Given the description of an element on the screen output the (x, y) to click on. 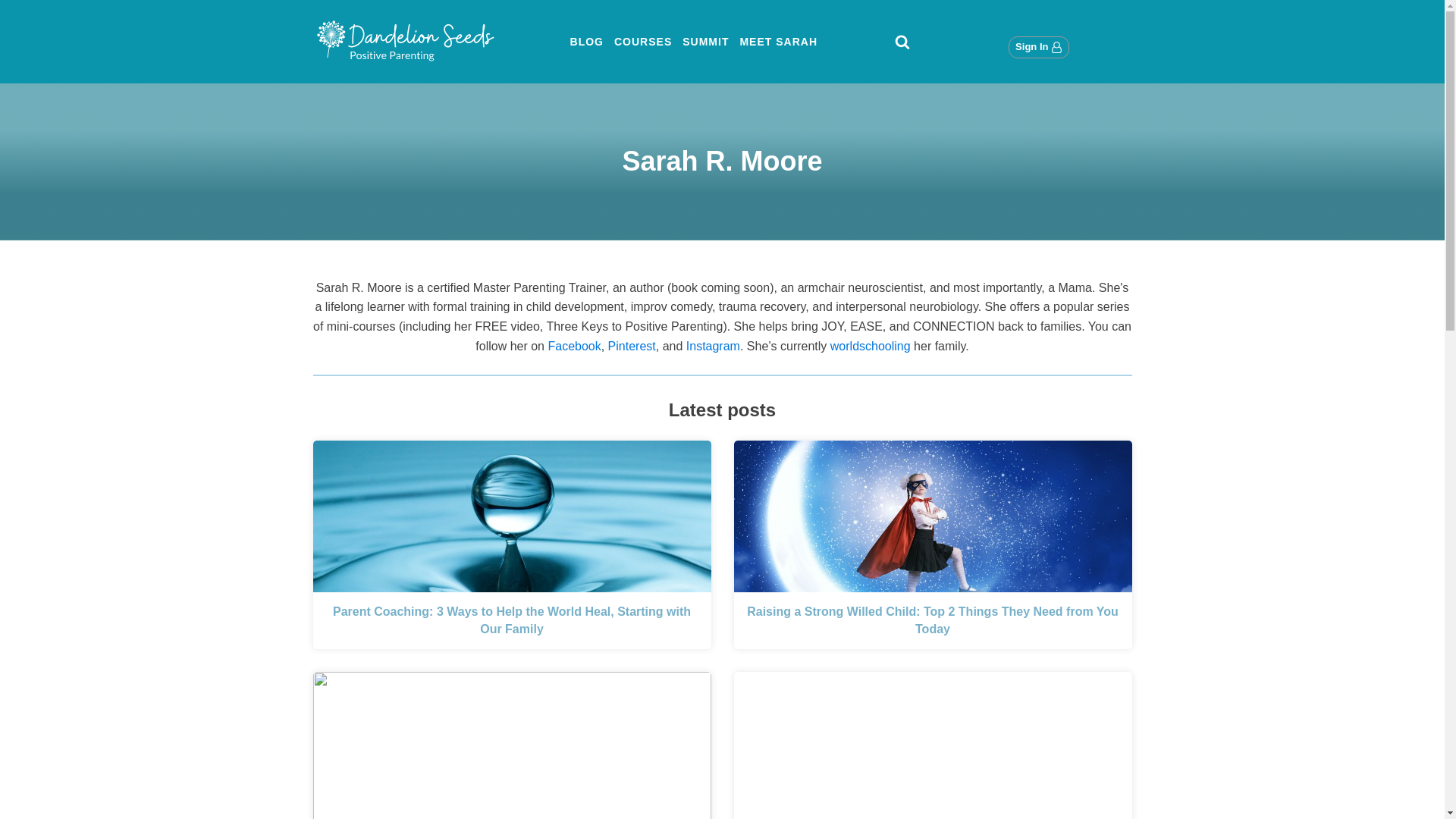
SUMMIT (705, 41)
Sign In (1038, 47)
Facebook (573, 345)
Pinterest (632, 345)
BLOG (586, 41)
Instagram (712, 345)
worldschooling (870, 345)
MEET SARAH (777, 41)
COURSES (642, 41)
